Given the description of an element on the screen output the (x, y) to click on. 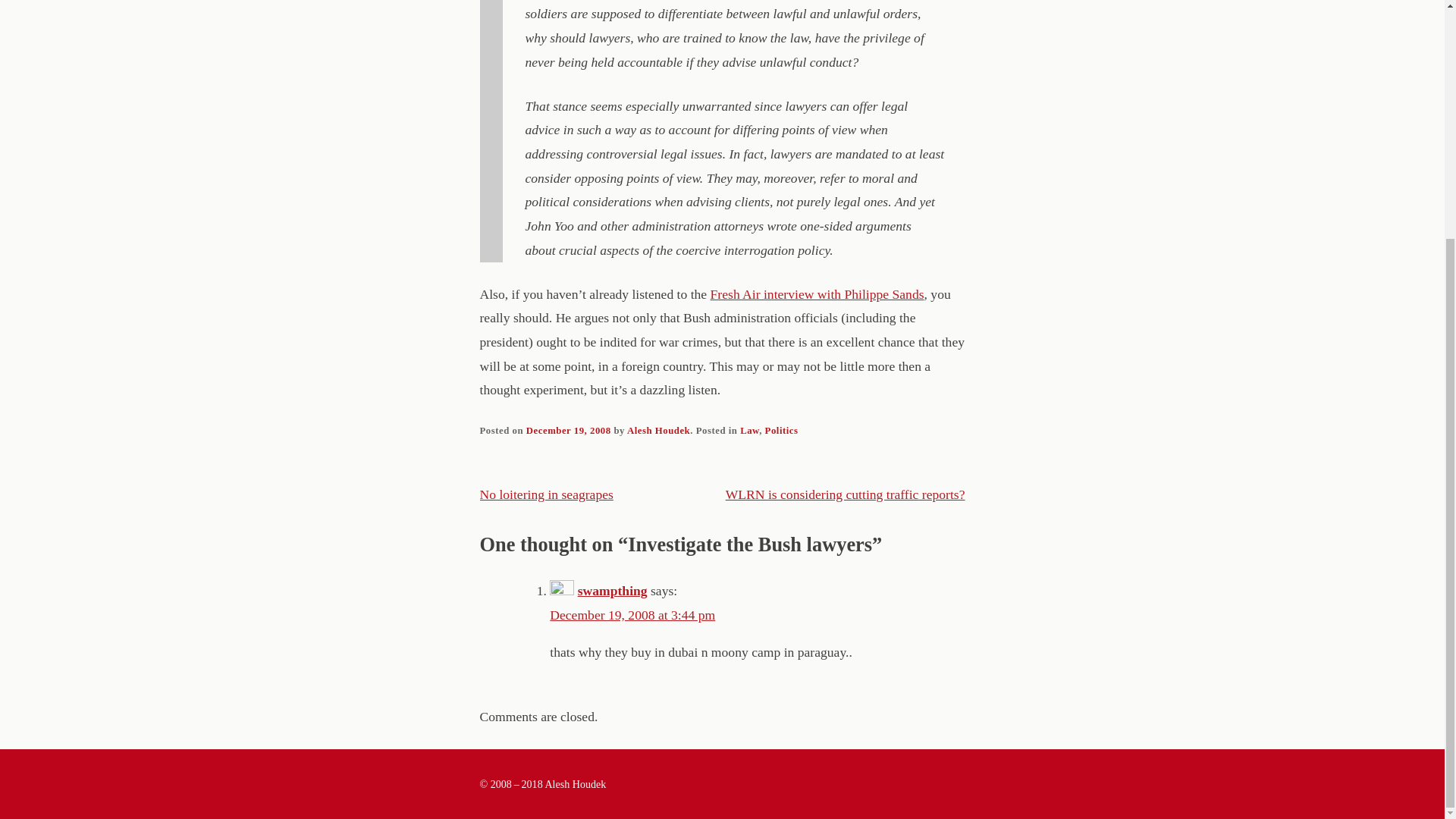
WLRN is considering cutting traffic reports? (845, 494)
Fresh Air interview with Philippe Sands (817, 294)
swampthing (612, 590)
No loitering in seagrapes (545, 494)
December 19, 2008 (568, 430)
Alesh Houdek (658, 430)
Politics (781, 430)
Law (748, 430)
December 19, 2008 at 3:44 pm (632, 614)
